Given the description of an element on the screen output the (x, y) to click on. 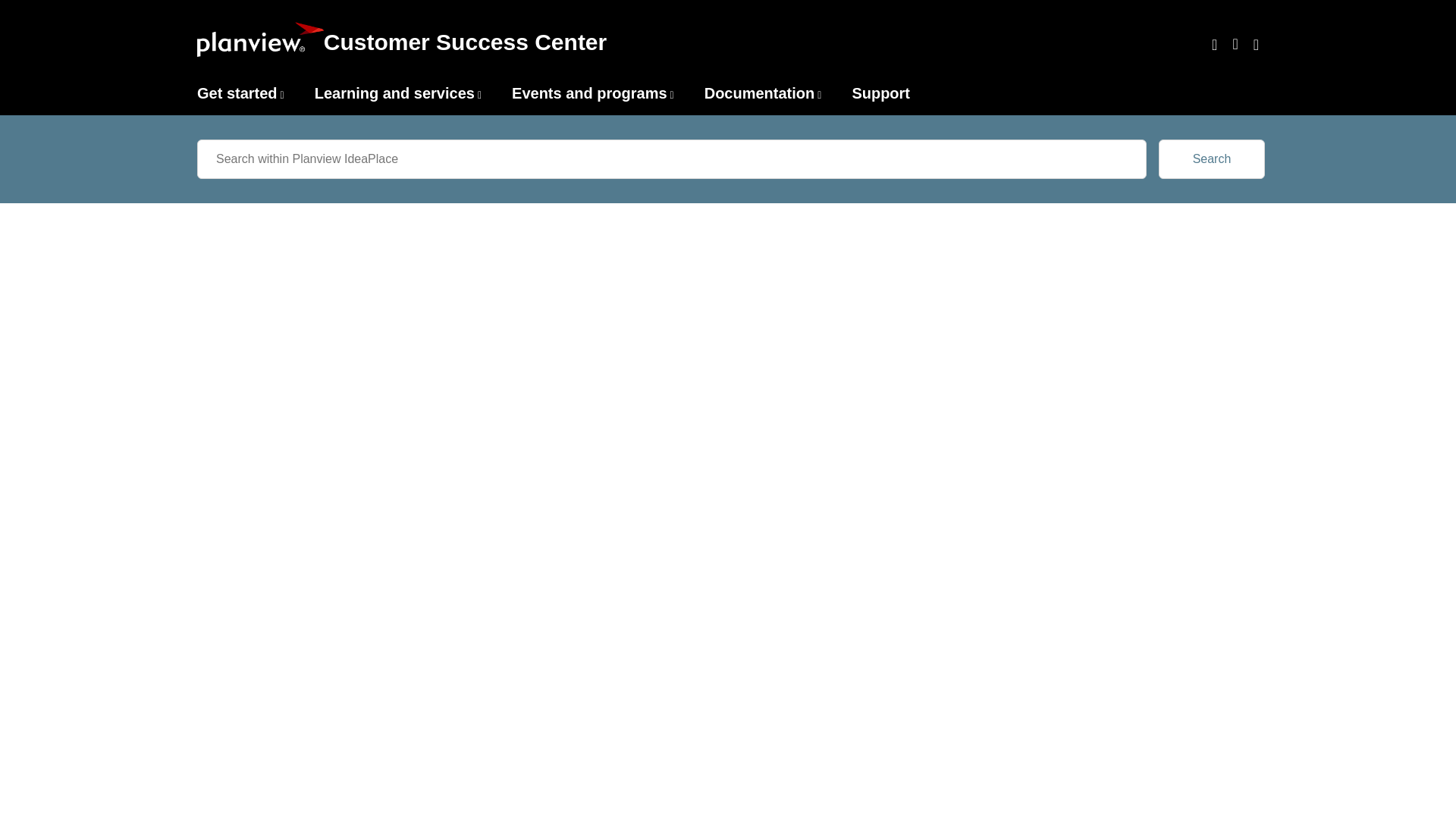
Learning and services (394, 93)
Events and programs (589, 93)
Get started (237, 93)
Documentation (759, 93)
